Given the description of an element on the screen output the (x, y) to click on. 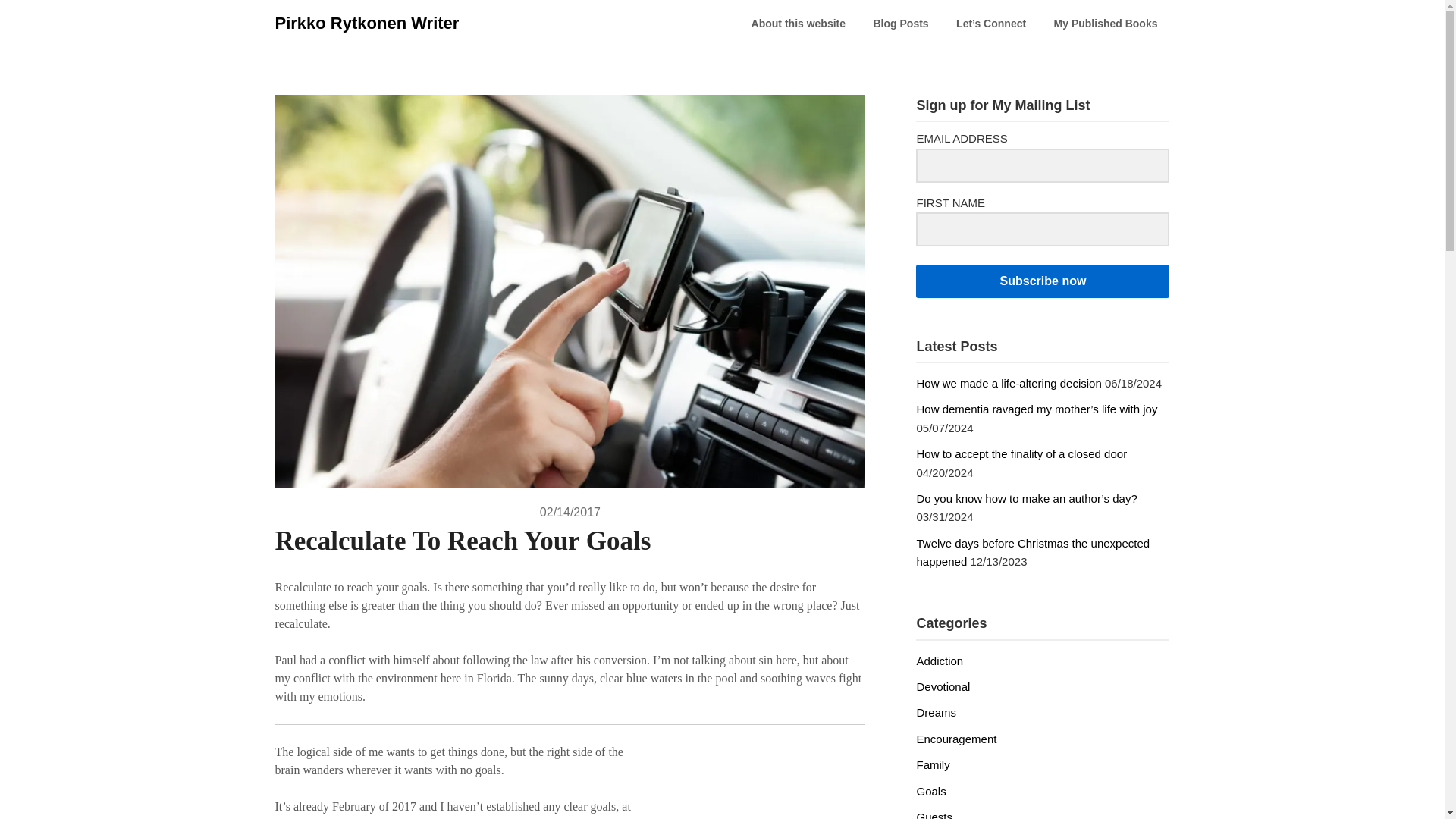
Blog Posts (900, 24)
Pirkko Rytkonen Writer (366, 22)
Dreams (935, 712)
About this website (798, 24)
How to accept the finality of a closed door (1020, 453)
Addiction (938, 660)
How we made a life-altering decision (1007, 382)
Family (932, 764)
Guests (933, 814)
Subscribe now (1042, 281)
Devotional (942, 686)
Twelve days before Christmas the unexpected happened (1032, 552)
Goals (929, 789)
My Published Books (1106, 24)
Encouragement (955, 738)
